Given the description of an element on the screen output the (x, y) to click on. 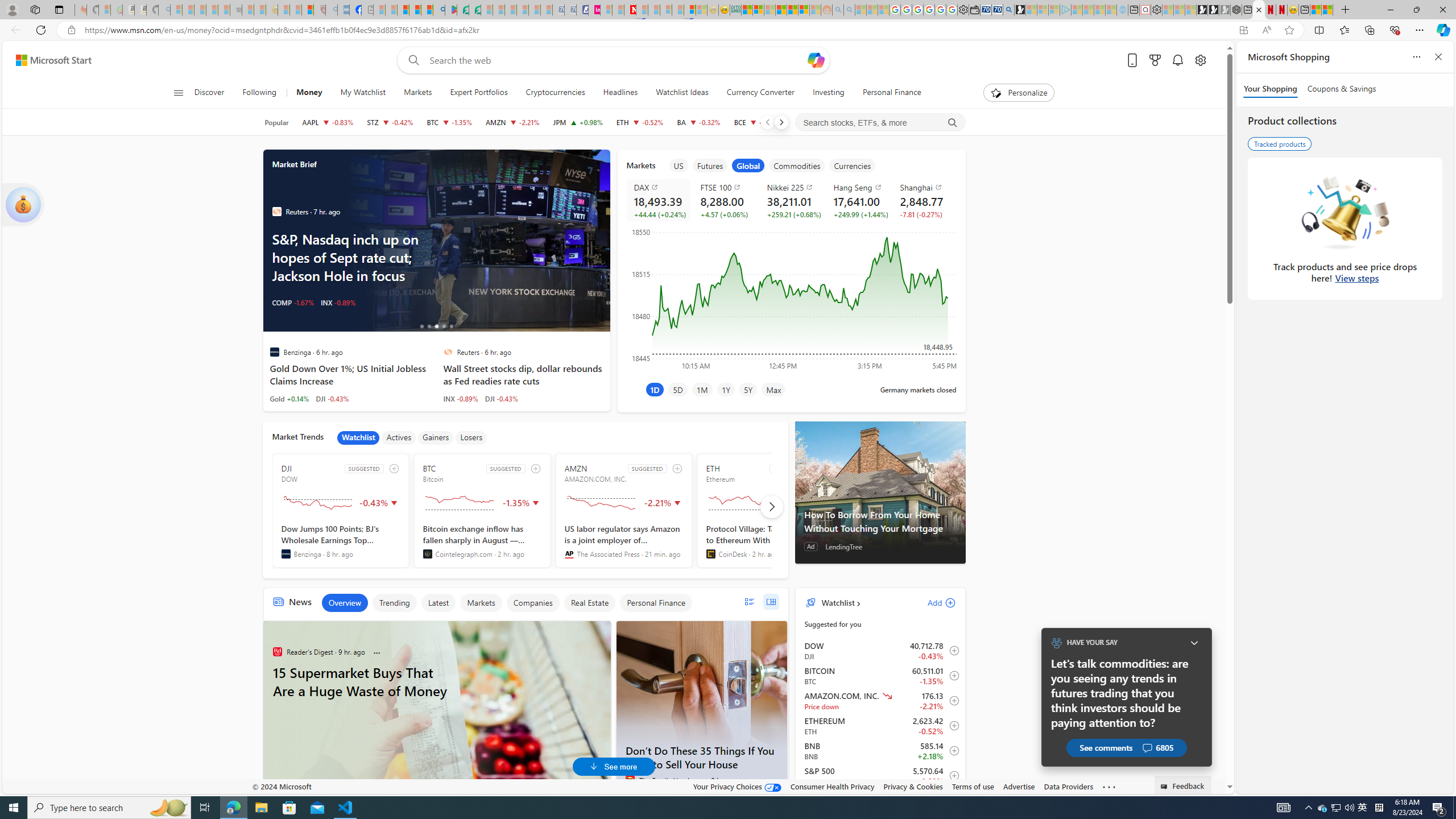
show card (22, 204)
Markets (417, 92)
Your Privacy Choices (737, 786)
Data Providers (1068, 785)
Next (780, 122)
Expert Portfolios (781, 9)
Bing Real Estate - Home sales and rental listings (1008, 9)
